Given the description of an element on the screen output the (x, y) to click on. 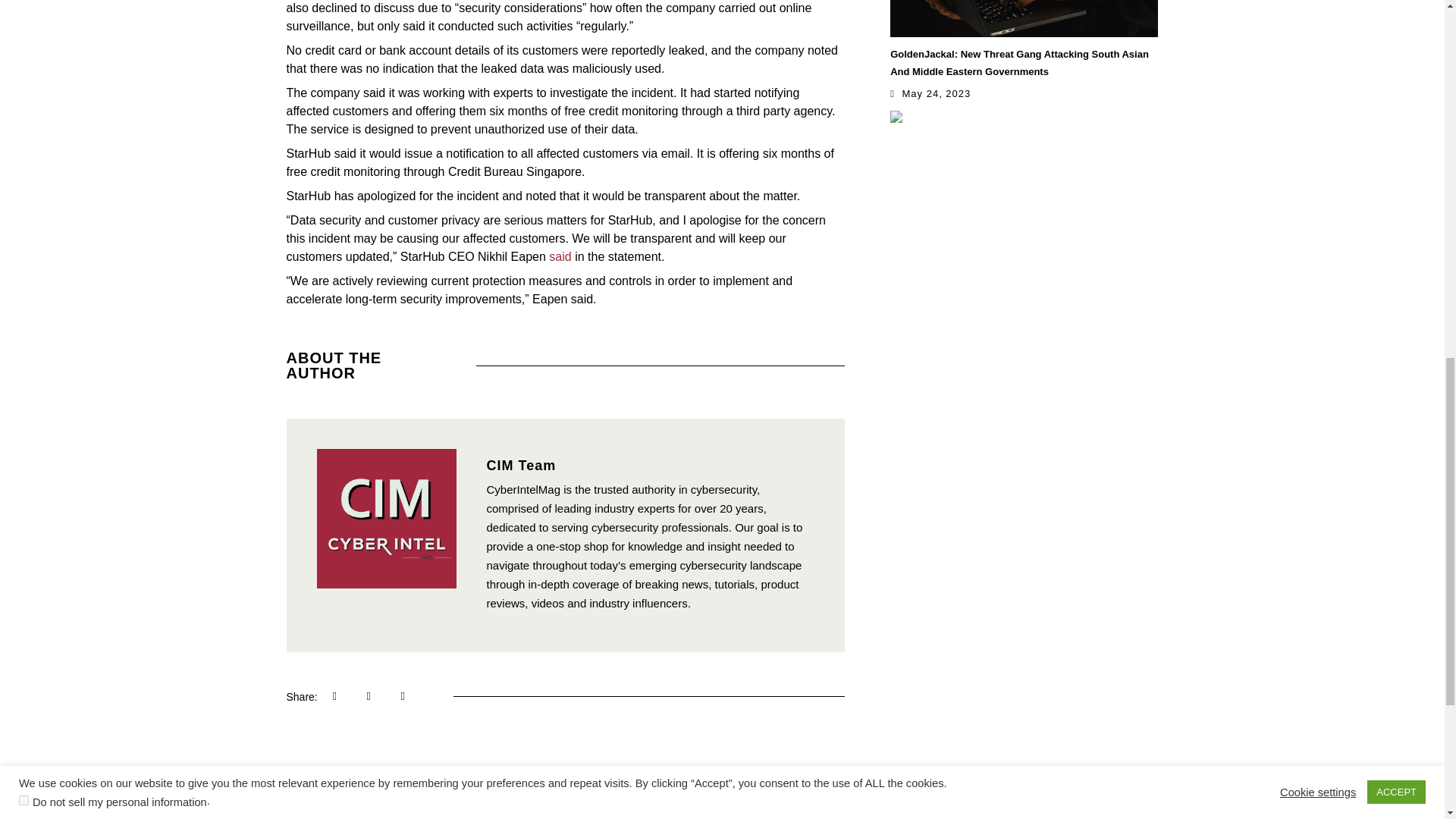
said (559, 256)
